Given the description of an element on the screen output the (x, y) to click on. 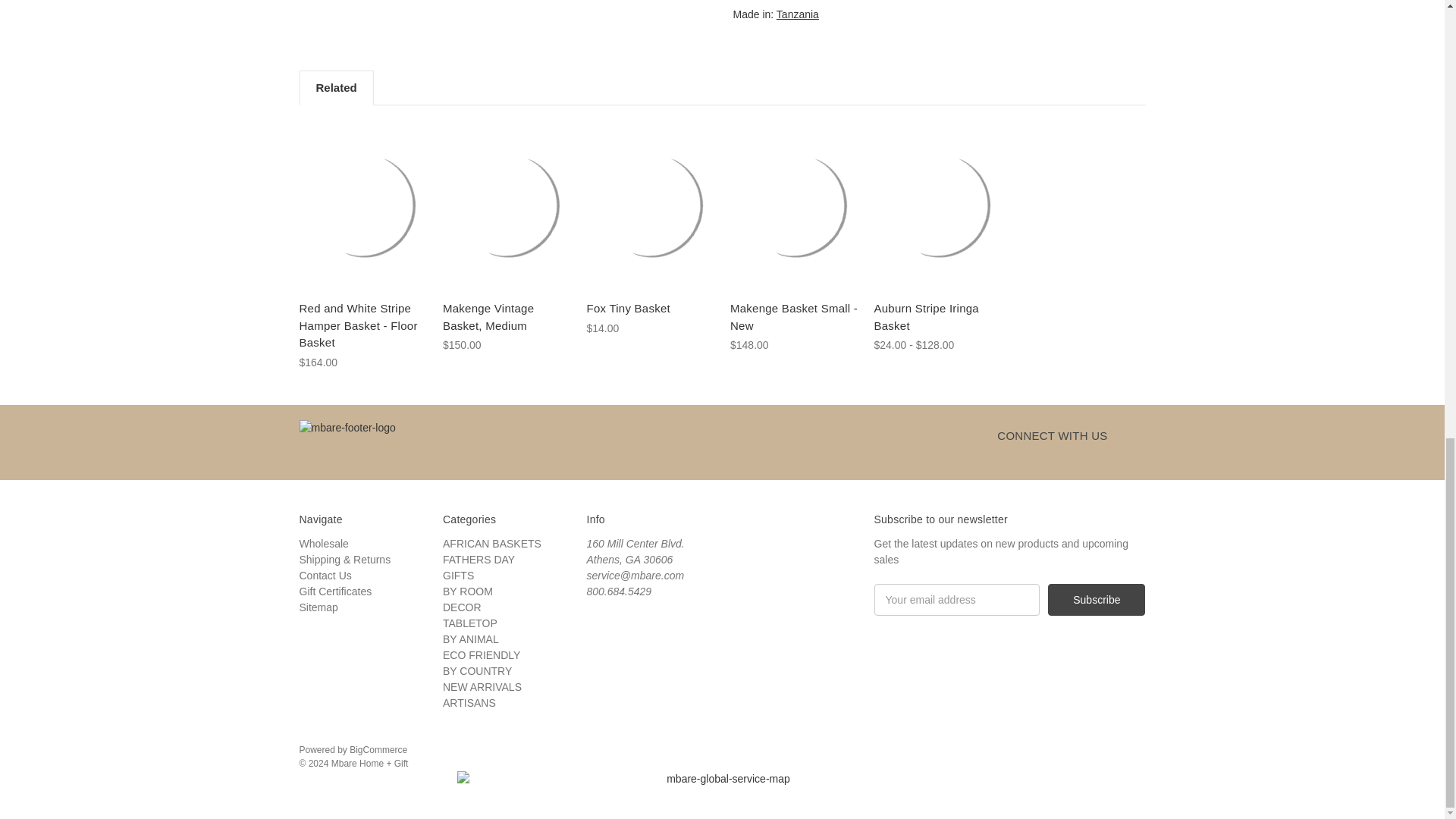
Subscribe (1096, 599)
